Given the description of an element on the screen output the (x, y) to click on. 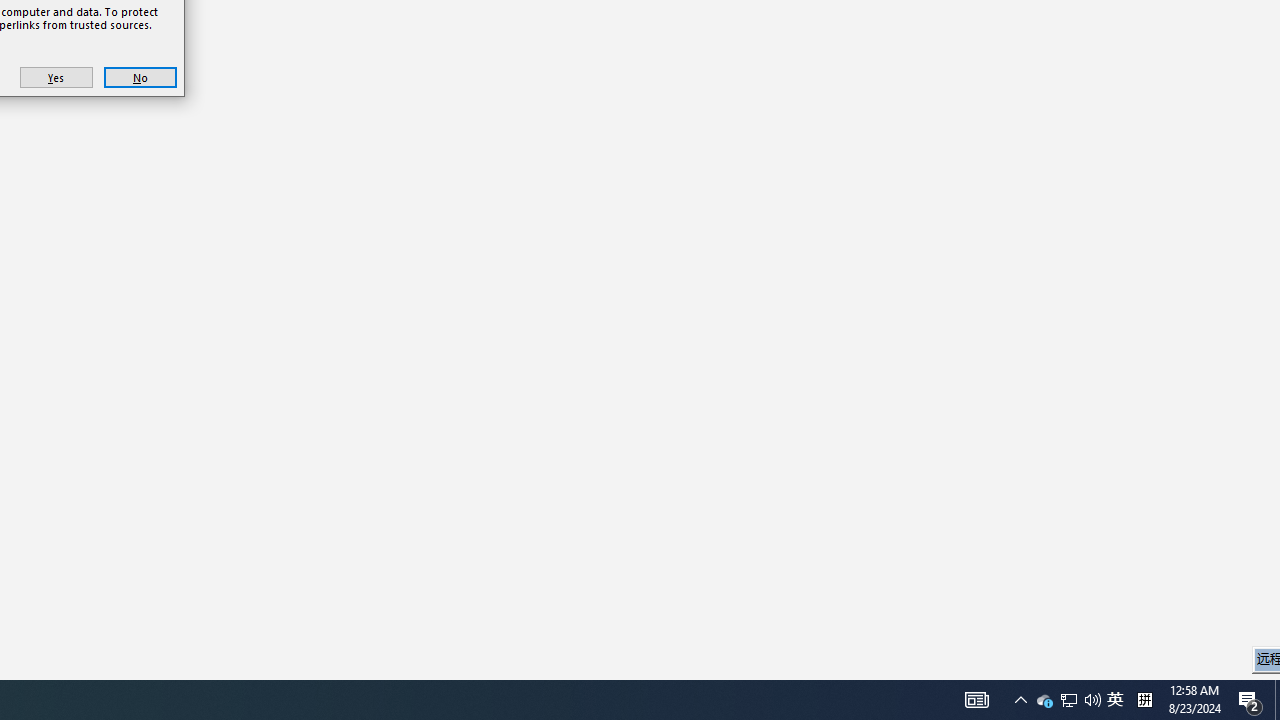
Yes (56, 77)
Action Center, 2 new notifications (1250, 699)
No (1115, 699)
Q2790: 100% (1044, 699)
AutomationID: 4105 (139, 77)
Tray Input Indicator - Chinese (Simplified, China) (1092, 699)
Show desktop (976, 699)
User Promoted Notification Area (1144, 699)
Notification Chevron (1277, 699)
